Given the description of an element on the screen output the (x, y) to click on. 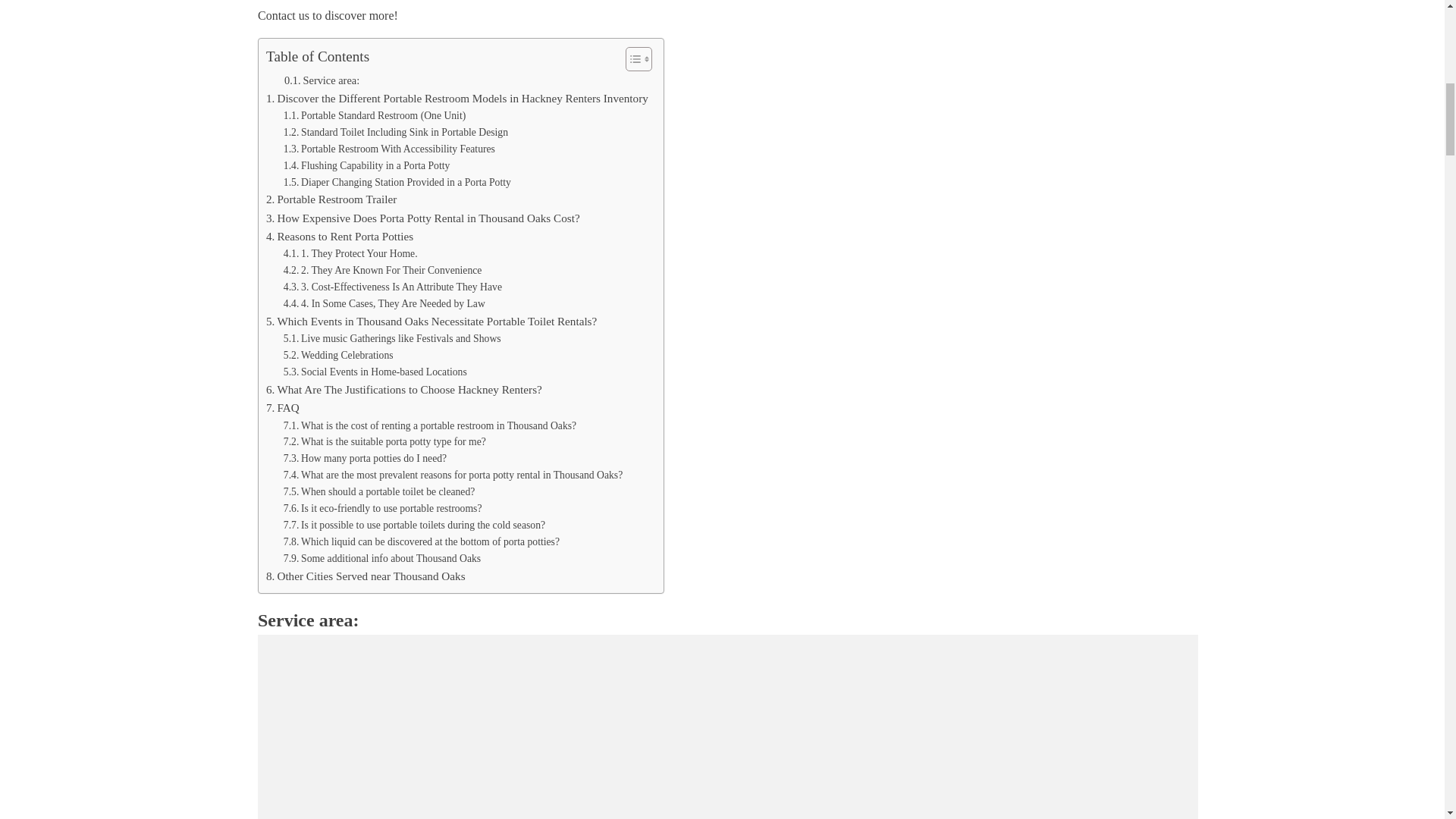
4. In Some Cases, They Are Needed by Law (383, 303)
Reasons to Rent Porta Potties (339, 236)
Reasons to Rent Porta Potties (339, 236)
Portable Restroom With Accessibility Features (389, 149)
Diaper Changing Station Provided in a Porta Potty (397, 182)
Diaper Changing Station Provided in a Porta Potty (397, 182)
Standard Toilet Including Sink in Portable Design (395, 132)
3. Cost-Effectiveness Is An Attribute They Have (392, 287)
